Given the description of an element on the screen output the (x, y) to click on. 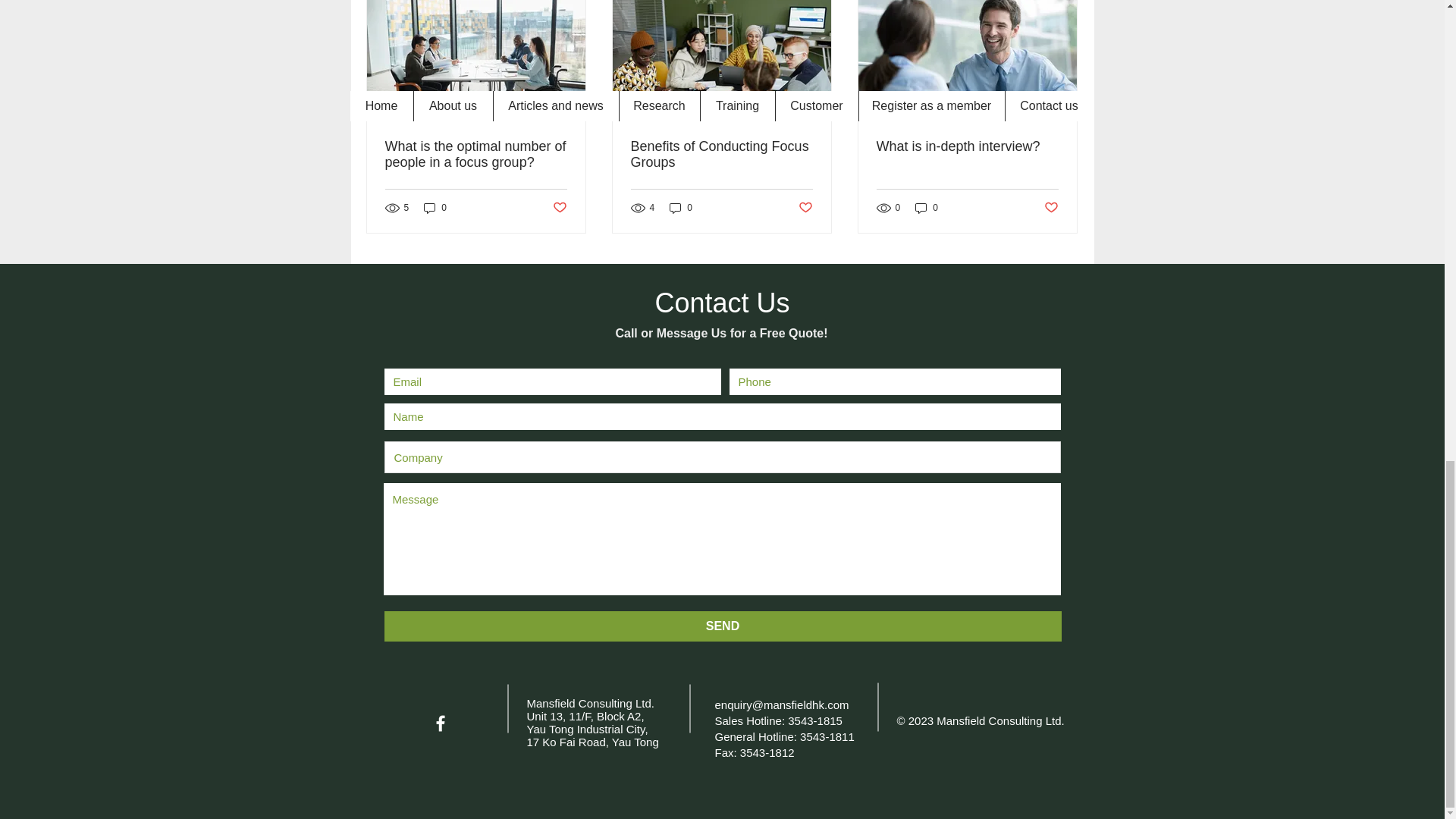
Post not marked as liked (558, 207)
0 (435, 207)
What is the optimal number of people in a focus group? (476, 154)
0 (681, 207)
Benefits of Conducting Focus Groups (721, 154)
